Given the description of an element on the screen output the (x, y) to click on. 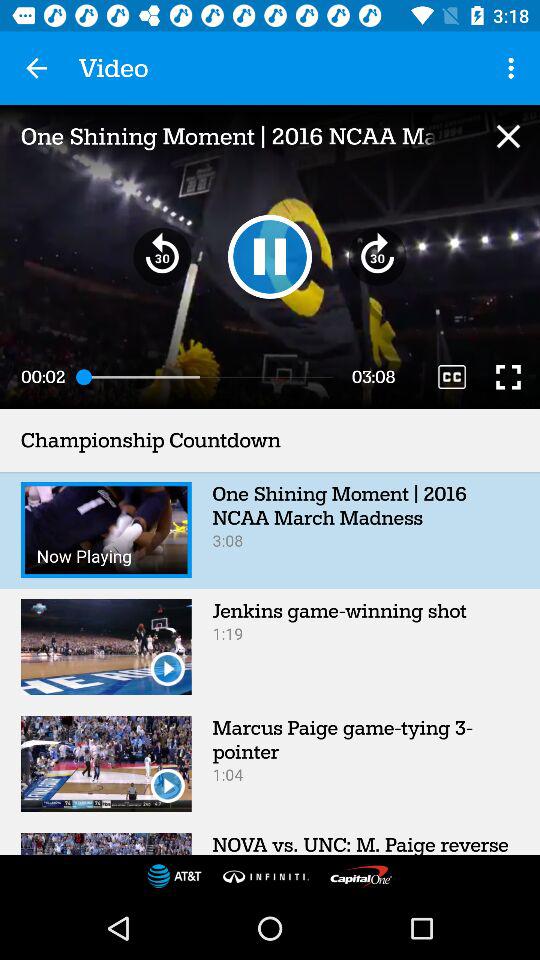
select item below one shining moment icon (161, 256)
